Given the description of an element on the screen output the (x, y) to click on. 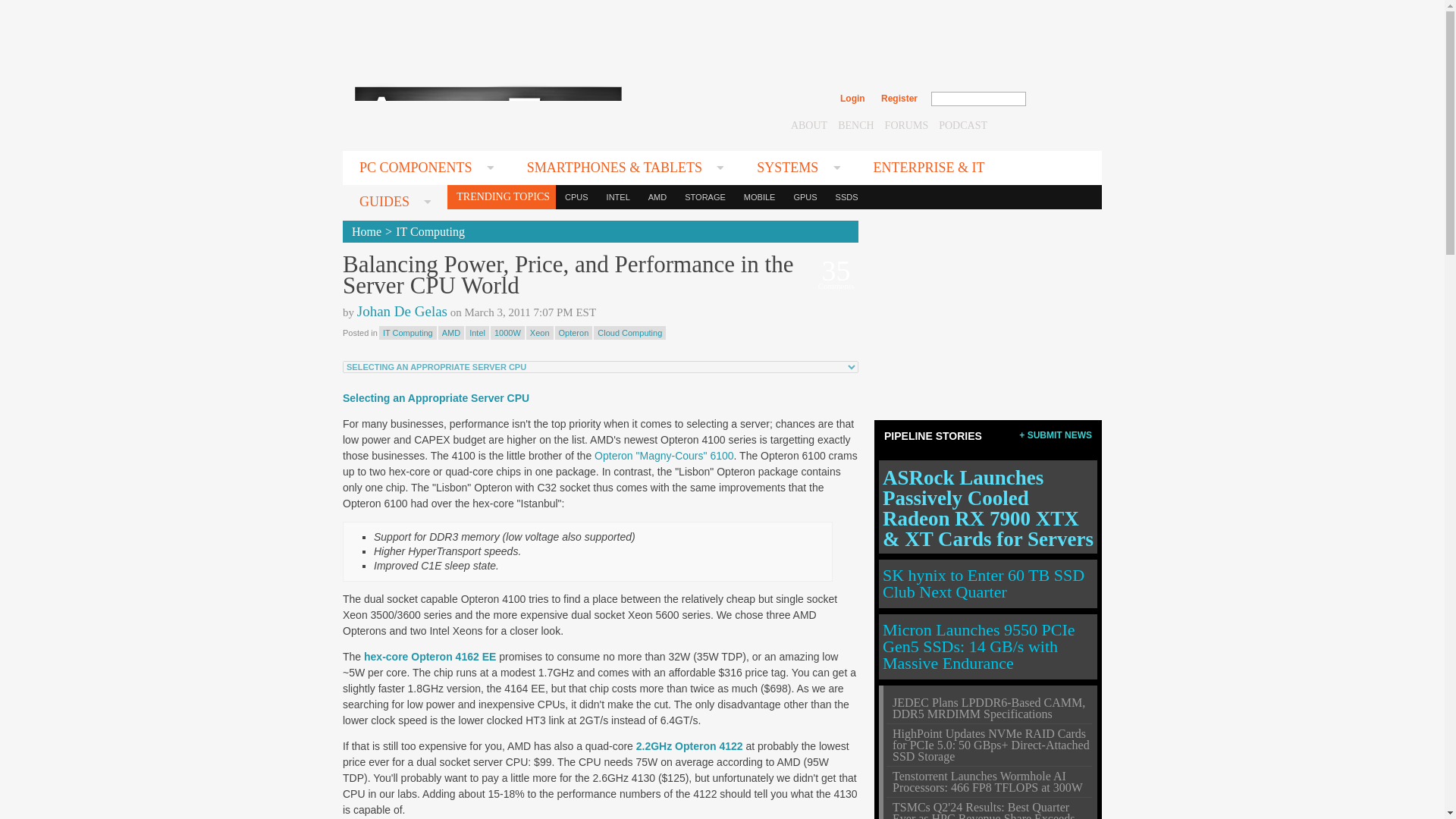
Register (898, 98)
search (1059, 98)
ABOUT (808, 125)
Login (852, 98)
PODCAST (963, 125)
FORUMS (906, 125)
BENCH (855, 125)
search (1059, 98)
search (1059, 98)
